Given the description of an element on the screen output the (x, y) to click on. 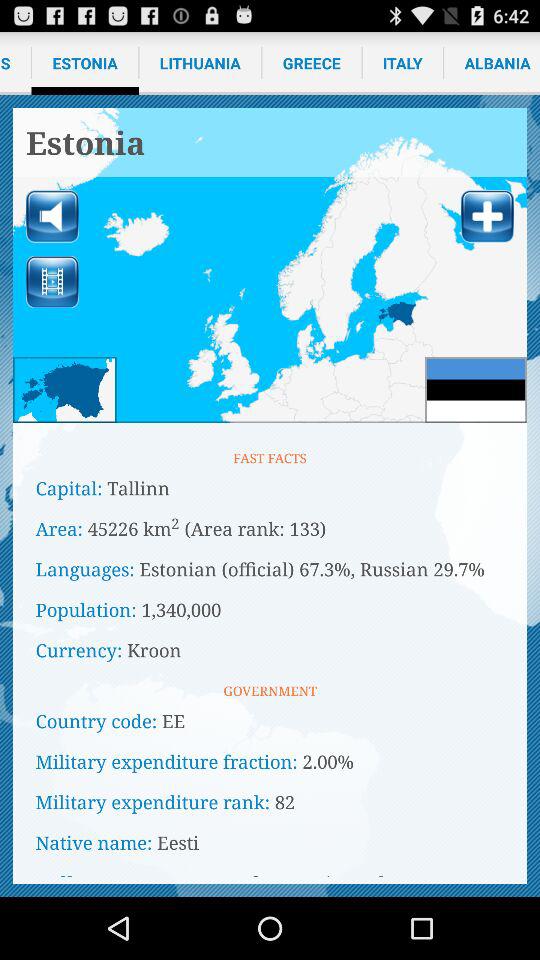
more information (487, 216)
